Given the description of an element on the screen output the (x, y) to click on. 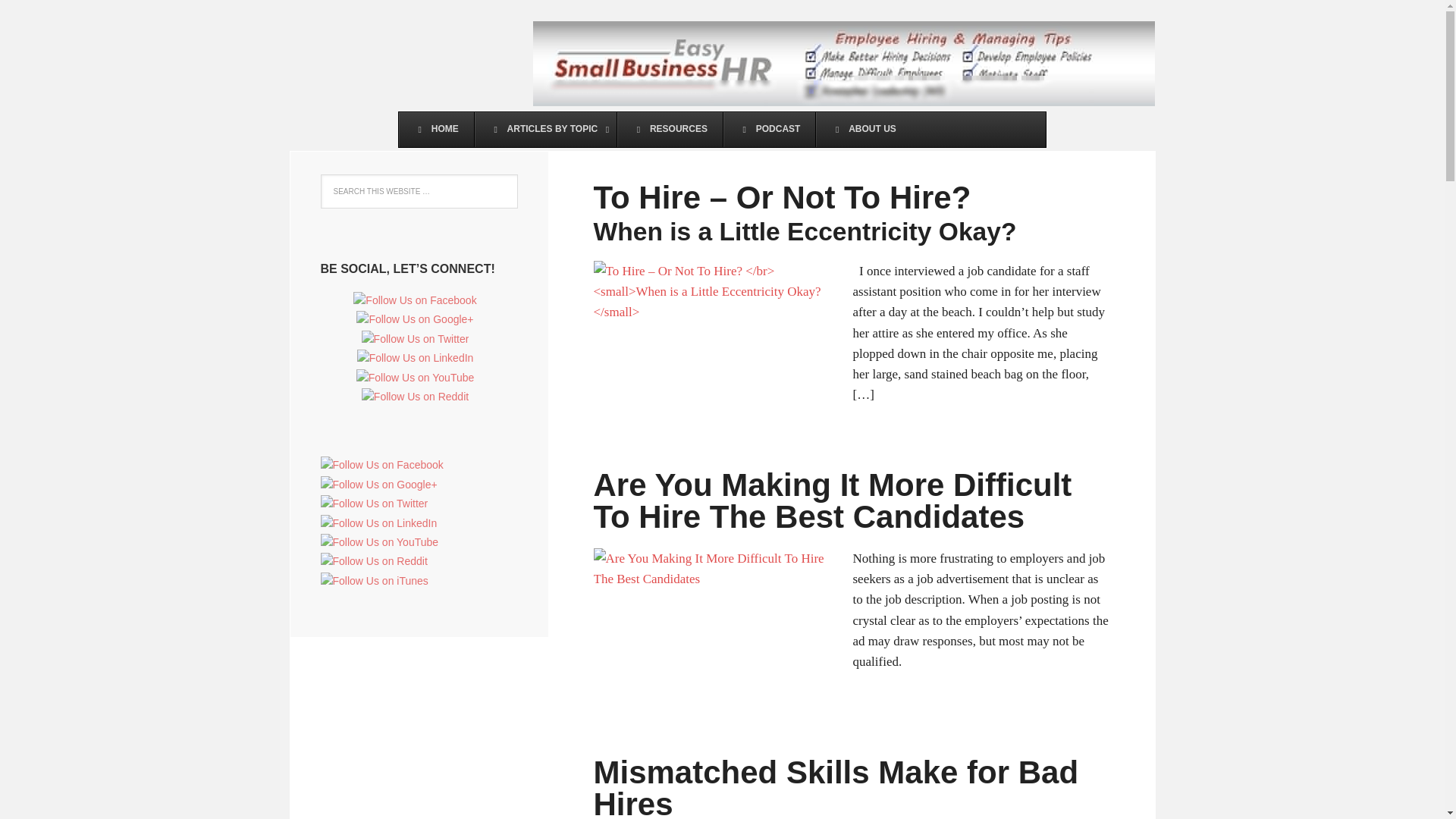
ABOUT US (863, 129)
Follow Us on Reddit (373, 560)
RESOURCES (668, 129)
Follow Us on YouTube (379, 541)
Follow Us on Facebook (381, 464)
PODCAST (768, 129)
Follow Us on YouTube (415, 377)
Follow Us on iTunes (374, 580)
ARTICLES BY TOPIC (544, 129)
Follow Us on LinkedIn (378, 523)
Follow Us on Twitter (414, 338)
Follow Us on Facebook (414, 299)
Are You Making It More Difficult To Hire The Best Candidates (831, 500)
HOME (436, 129)
